Given the description of an element on the screen output the (x, y) to click on. 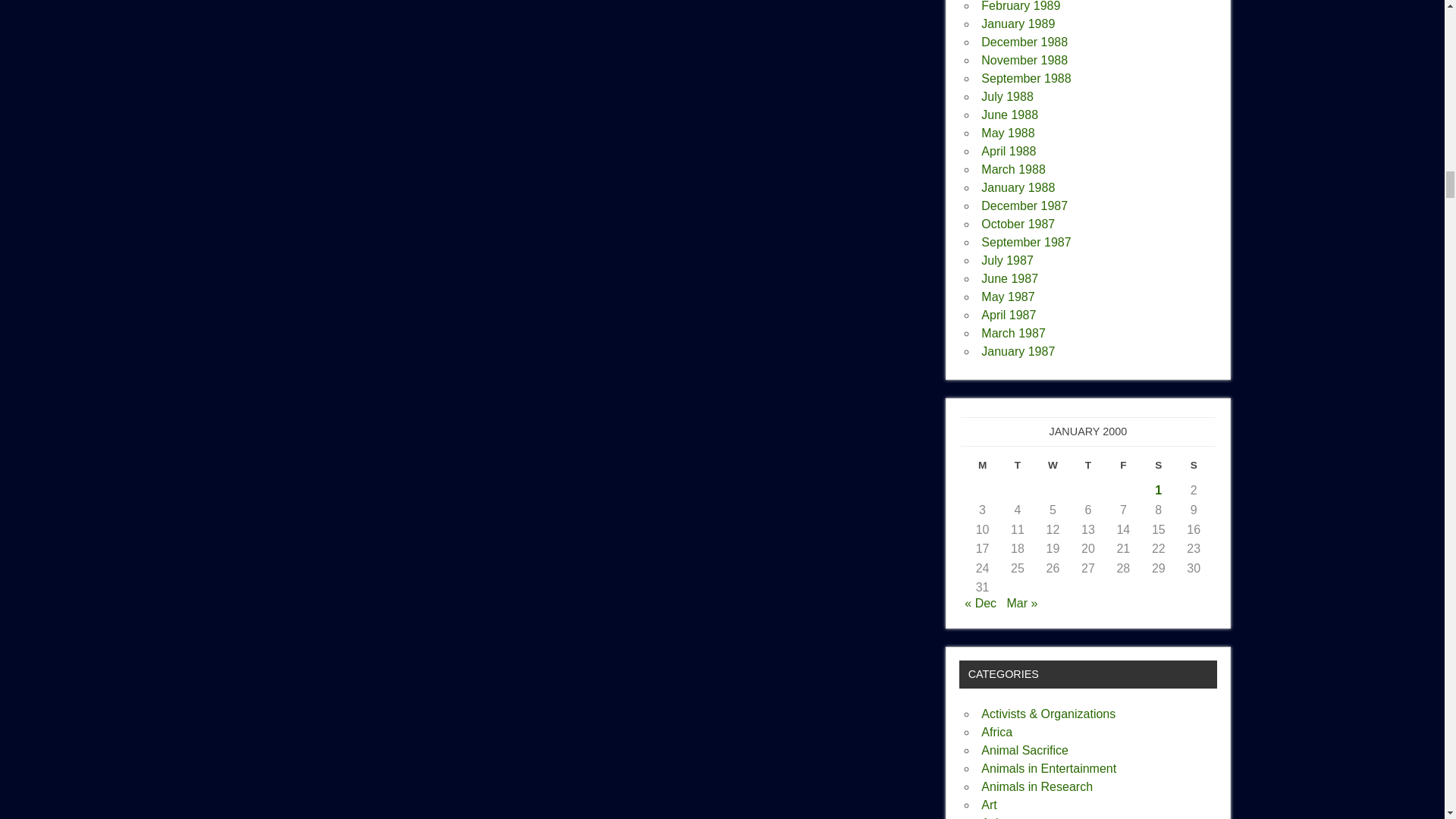
Monday (980, 468)
Tuesday (1017, 468)
Thursday (1087, 468)
Friday (1122, 468)
Saturday (1158, 468)
Wednesday (1052, 468)
Sunday (1193, 468)
